Given the description of an element on the screen output the (x, y) to click on. 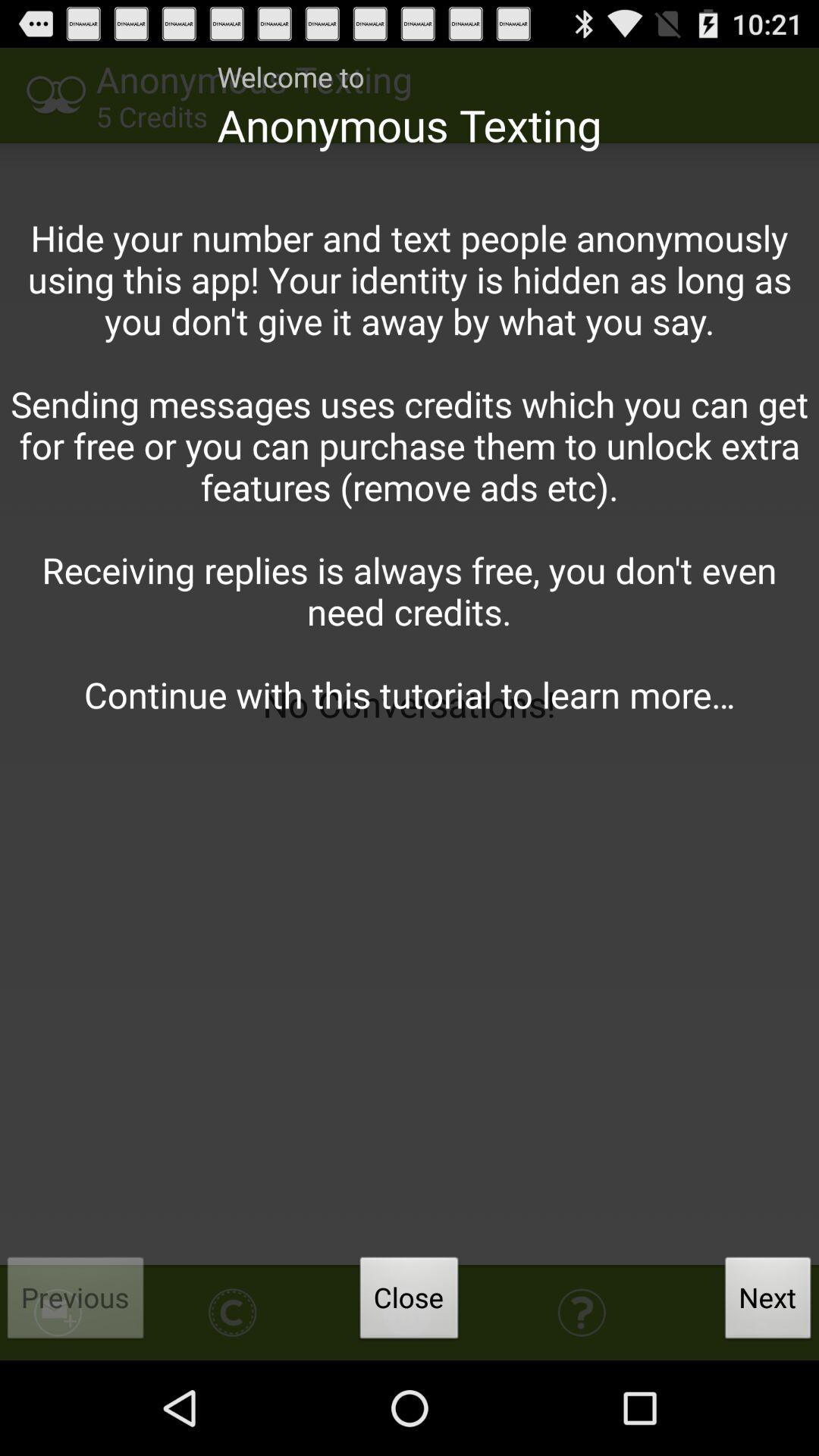
launch icon to the left of the close icon (75, 1302)
